Given the description of an element on the screen output the (x, y) to click on. 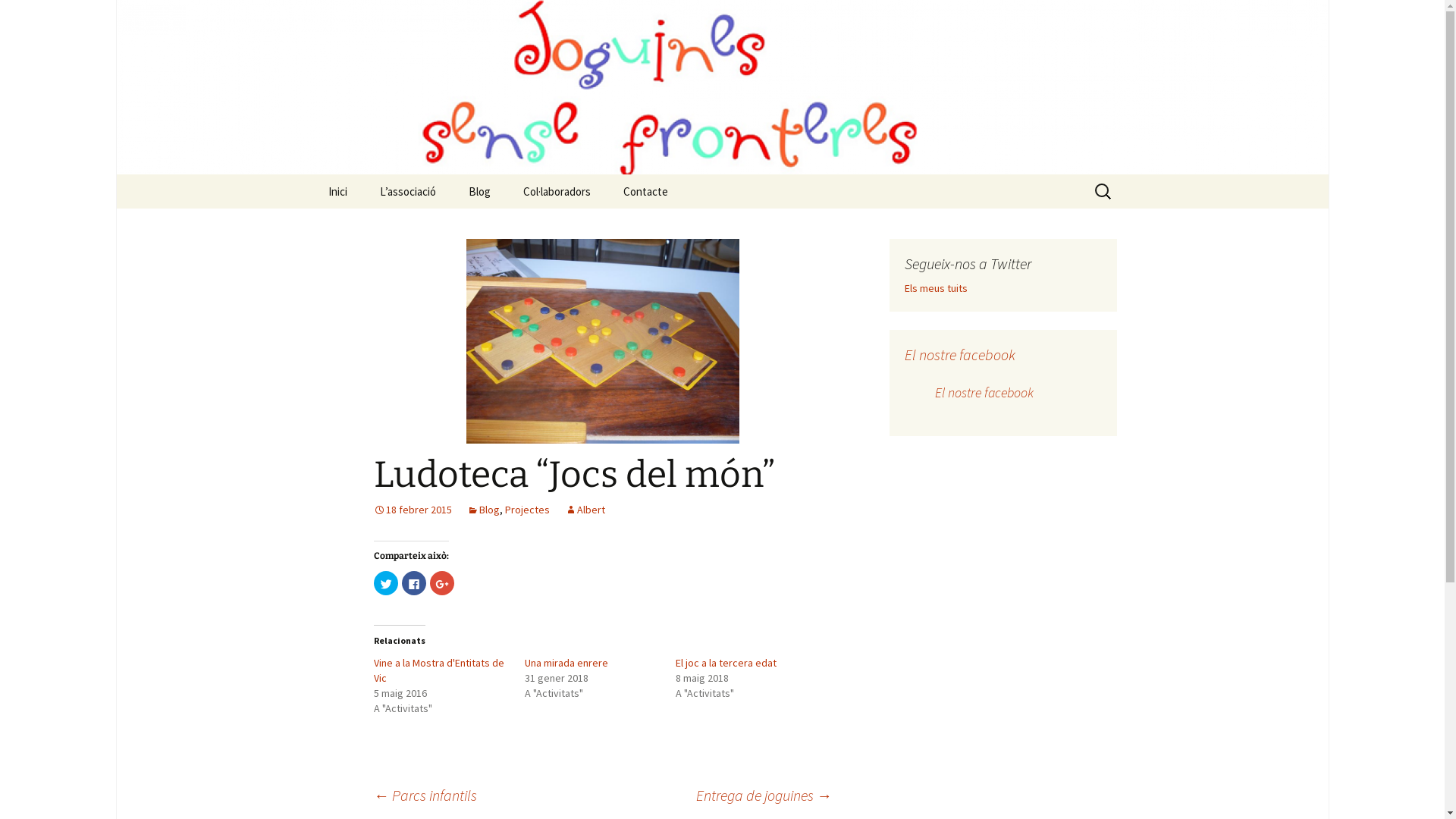
Inici Element type: text (336, 191)
Contacte Element type: text (645, 191)
Objectius de JSF Element type: text (439, 225)
Feu clic per compartir al Twitter (Opens in new window) Element type: text (385, 583)
18 febrer 2015 Element type: text (412, 509)
Joguines sense fronteres
Joguines sense fronteres Element type: text (721, 87)
Click to share on Facebook (Opens in new window) Element type: text (413, 583)
Albert Element type: text (584, 509)
Una mirada enrere Element type: text (566, 662)
El joc a la tercera edat Element type: text (725, 662)
Activitats Element type: text (529, 225)
El nostre facebook Element type: text (983, 392)
Projectes Element type: text (527, 509)
Cerca Element type: text (18, 16)
Blog Element type: text (483, 509)
Els meus tuits Element type: text (934, 287)
El nostre facebook Element type: text (958, 354)
Blog Element type: text (479, 191)
Vine a la Mostra d'Entitats de Vic Element type: text (438, 669)
Feu clic per compartir a Google+ (Opens in new window) Element type: text (441, 583)
